Given the description of an element on the screen output the (x, y) to click on. 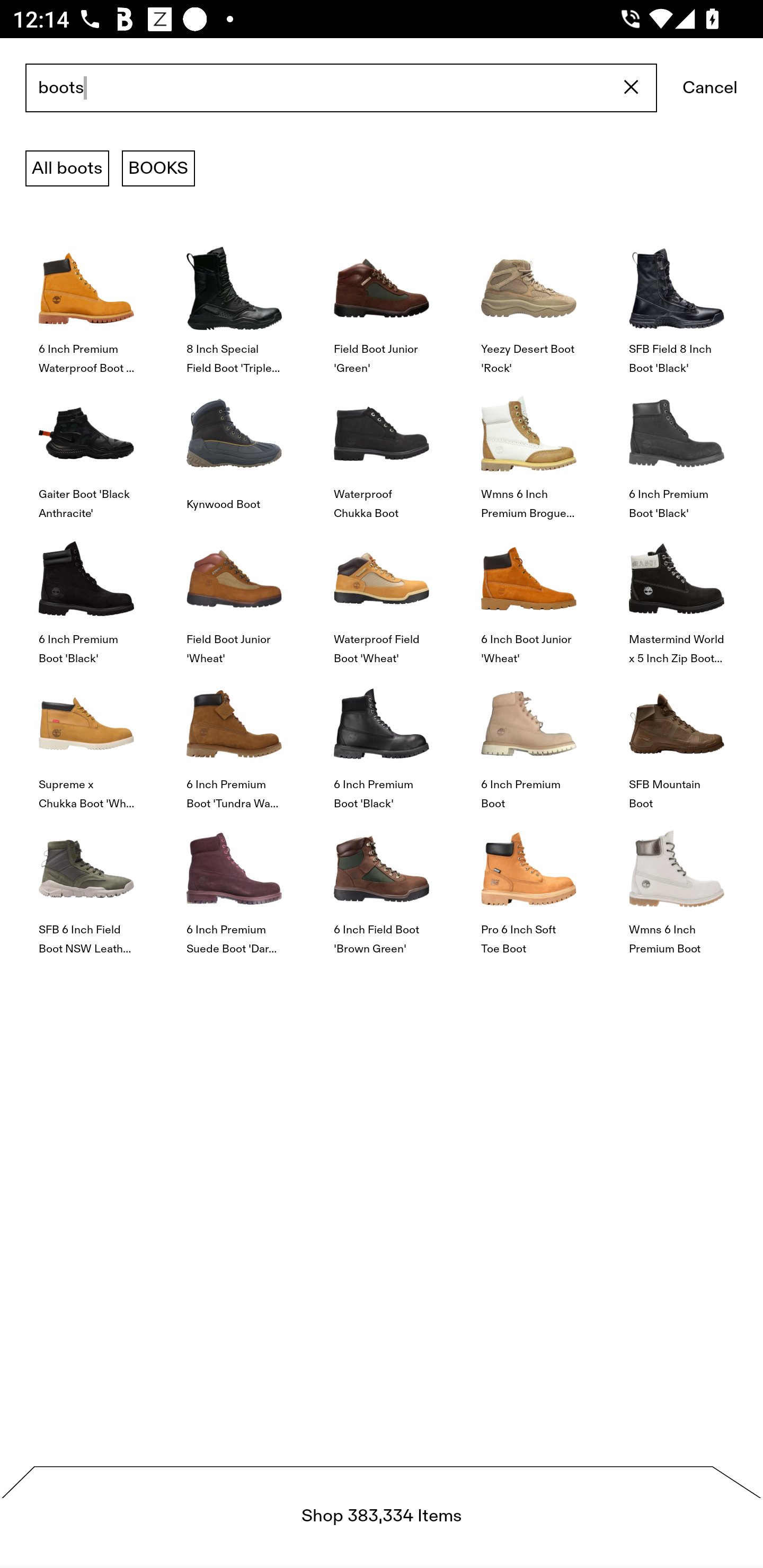
boots (340, 88)
Cancel (709, 88)
Clear text (631, 87)
All boots (67, 168)
BOOKS (158, 168)
6 Inch Premium Waterproof Boot 'Wheat' (86, 303)
8 Inch Special Field Boot 'Triple Black' (233, 303)
Field Boot Junior 'Green' (381, 303)
Yeezy Desert Boot 'Rock' (528, 303)
SFB Field 8 Inch Boot 'Black' (676, 303)
Gaiter Boot 'Black Anthracite' (86, 448)
Kynwood Boot (233, 448)
Waterproof Chukka Boot (381, 448)
Wmns 6 Inch Premium Brogue Boot (528, 448)
6 Inch Premium Boot 'Black' (676, 448)
6 Inch Premium Boot 'Black' (86, 593)
Field Boot Junior 'Wheat' (233, 593)
Waterproof Field Boot 'Wheat' (381, 593)
6 Inch Boot Junior 'Wheat' (528, 593)
Mastermind World x 5 Inch Zip Boot 'Black' (676, 593)
Supreme x Chukka Boot ‘Wheat’ (86, 739)
6 Inch Premium Boot 'Tundra Waterbuck' (233, 739)
6 Inch Premium Boot 'Black' (381, 739)
6 Inch Premium Boot (528, 739)
SFB Mountain Boot (676, 739)
SFB 6 Inch Field Boot NSW Leather 'Cargo Khaki' (86, 884)
6 Inch Premium Suede Boot 'Dark Port' (233, 884)
6 Inch Field Boot 'Brown Green' (381, 884)
Pro 6 Inch Soft Toe Boot (528, 884)
Wmns 6 Inch Premium Boot (676, 884)
Shop 383,334 Items (381, 1517)
